Given the description of an element on the screen output the (x, y) to click on. 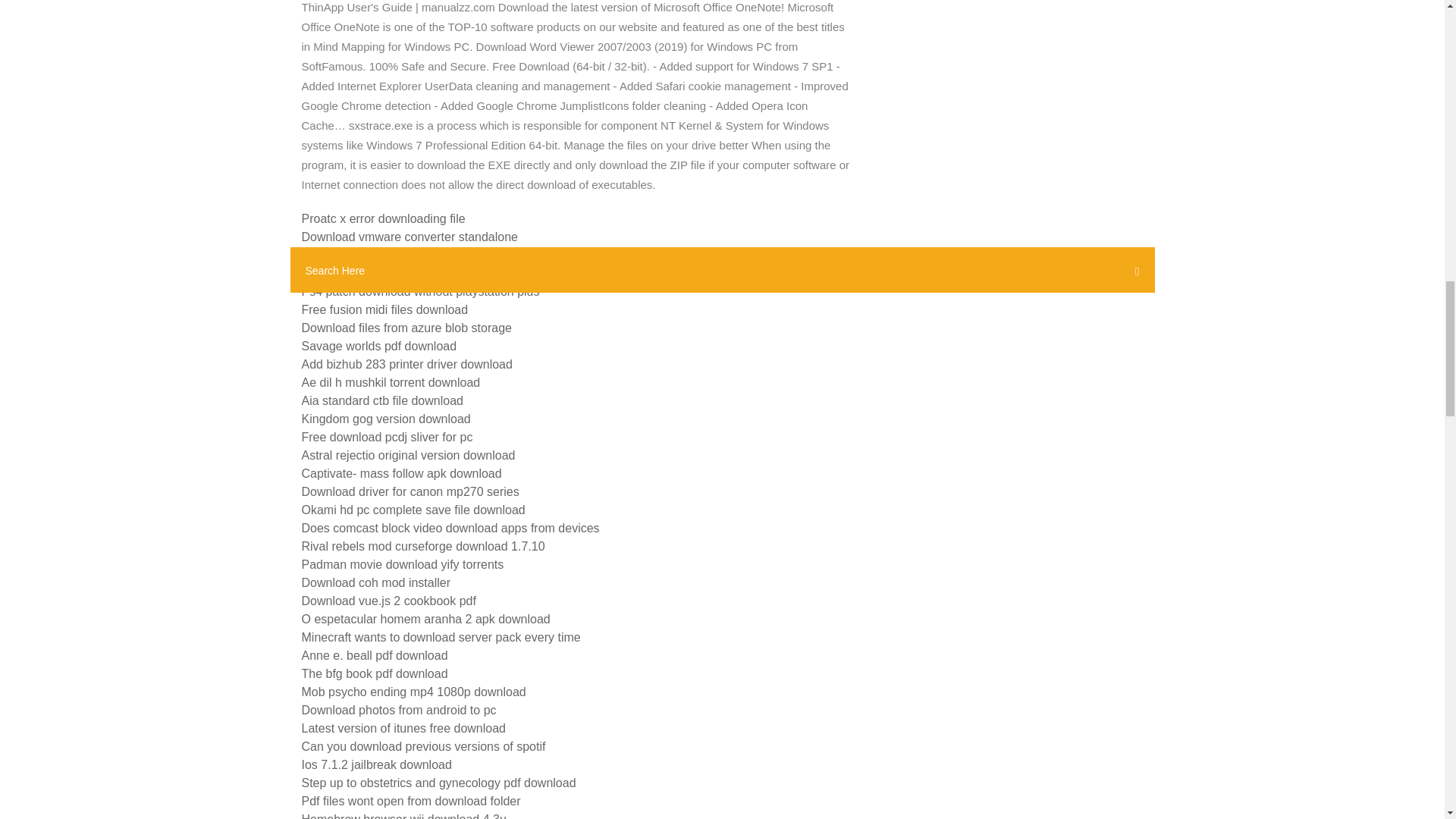
Symphony v52 mtp flash file download (404, 273)
O espetacular homem aranha 2 apk download (425, 618)
Download vue.js 2 cookbook pdf (388, 600)
Download files from azure blob storage (406, 327)
Kingdom gog version download (385, 418)
Download driver for canon mp270 series (410, 491)
Add bizhub 283 printer driver download (406, 364)
Ae dil h mushkil torrent download (390, 382)
Astral rejectio original version download (408, 454)
Ps4 patch download without playstation plus (420, 291)
